Given the description of an element on the screen output the (x, y) to click on. 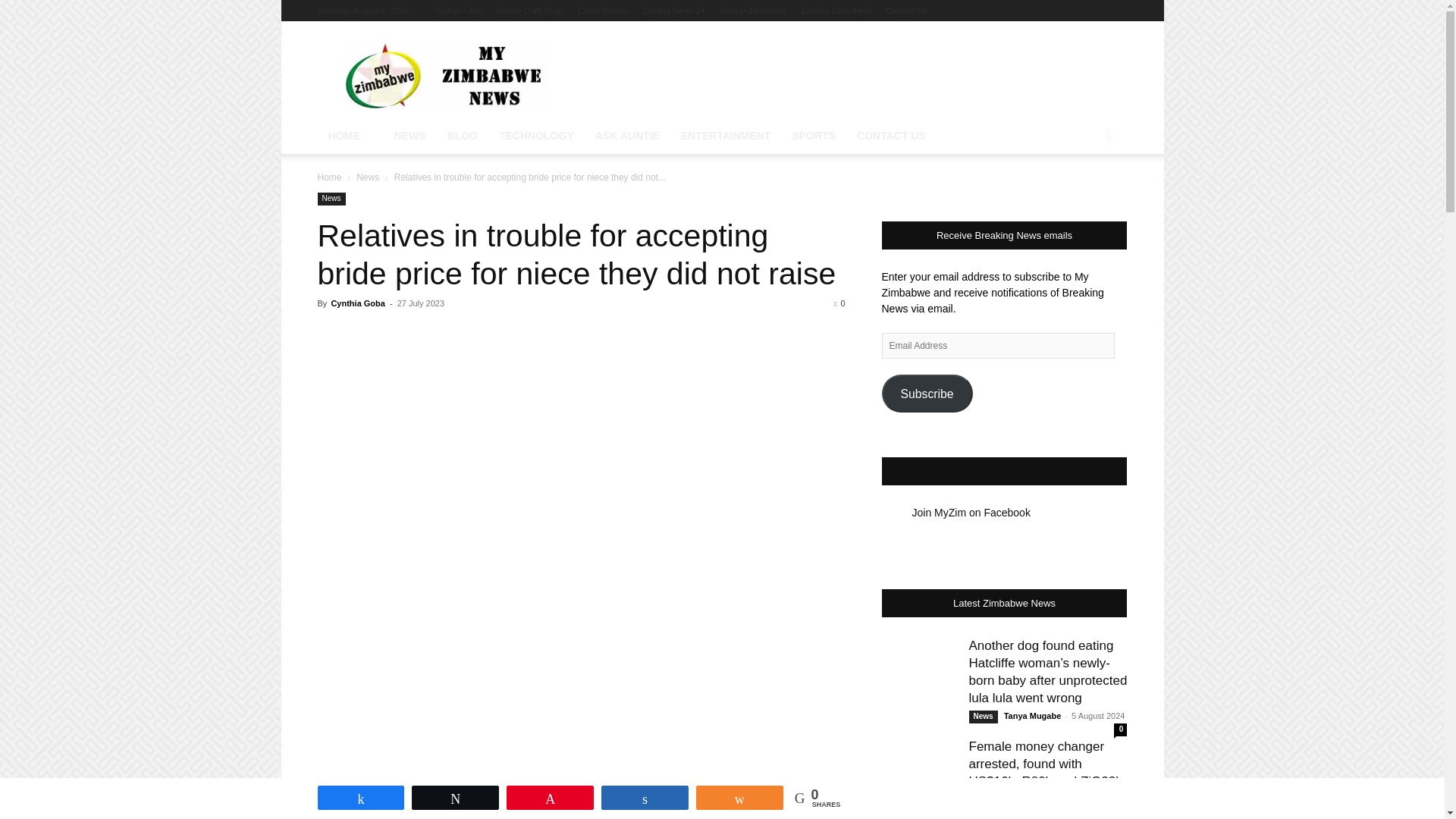
Celeb Gossip (602, 10)
Search (1085, 196)
Home (328, 176)
SPORTS (814, 135)
NEWS (410, 135)
BLOG (461, 135)
TECHNOLOGY (536, 135)
View all posts in News (367, 176)
HOME (349, 135)
Jobs in Zimbabwe (753, 10)
